Given the description of an element on the screen output the (x, y) to click on. 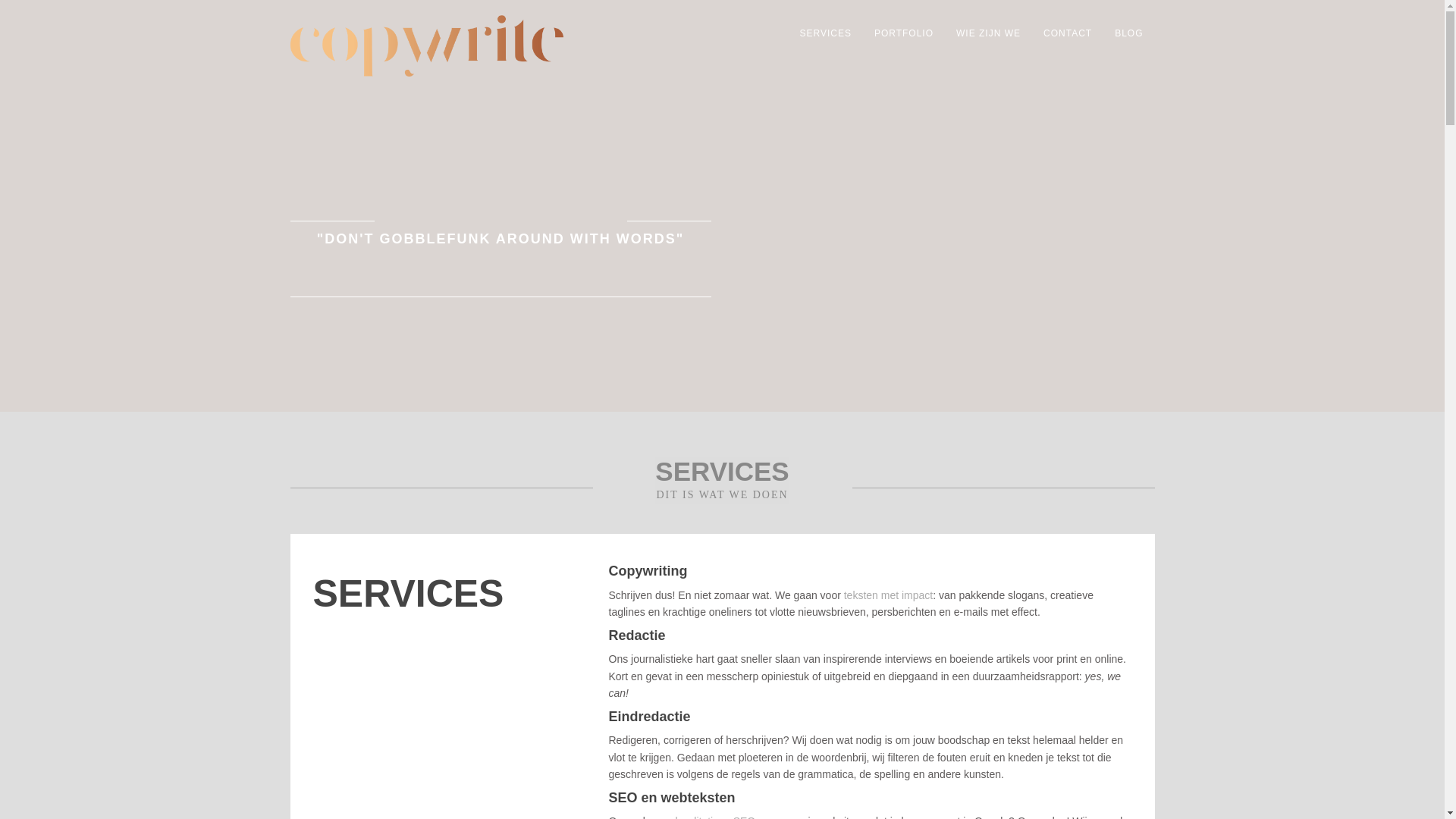
SERVICES Element type: text (824, 33)
PORTFOLIO Element type: text (903, 33)
WIE ZIJN WE Element type: text (988, 33)
CONTACT Element type: text (1067, 33)
BLOG Element type: text (1128, 33)
teksten met impact Element type: text (888, 595)
